Given the description of an element on the screen output the (x, y) to click on. 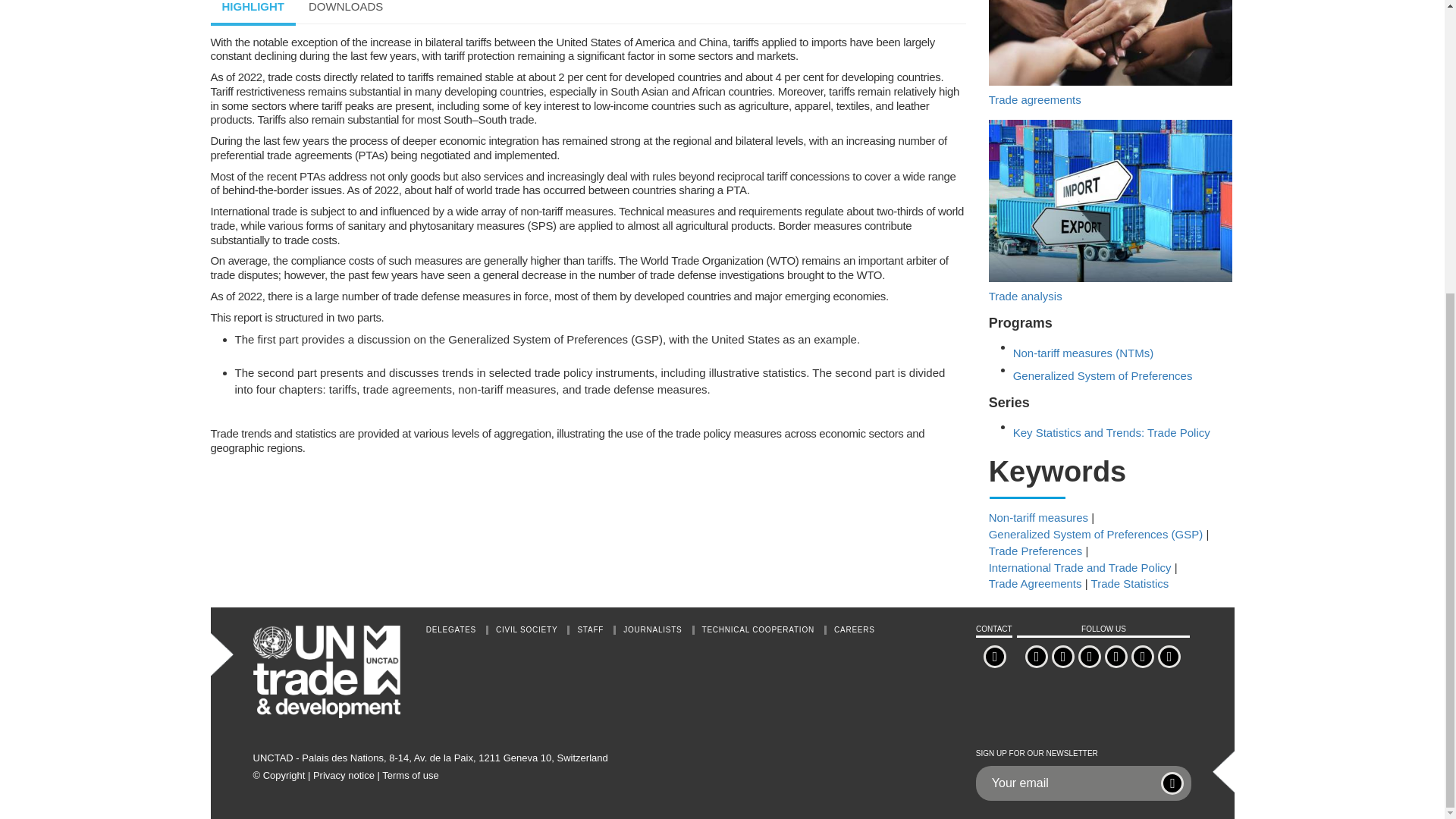
Key Statistics and Trends: Trade Policy (1111, 426)
Enter your email address (1071, 782)
Trade agreements (1109, 103)
Generalized System of Preferences (1102, 369)
Trade analysis (1109, 248)
